Given the description of an element on the screen output the (x, y) to click on. 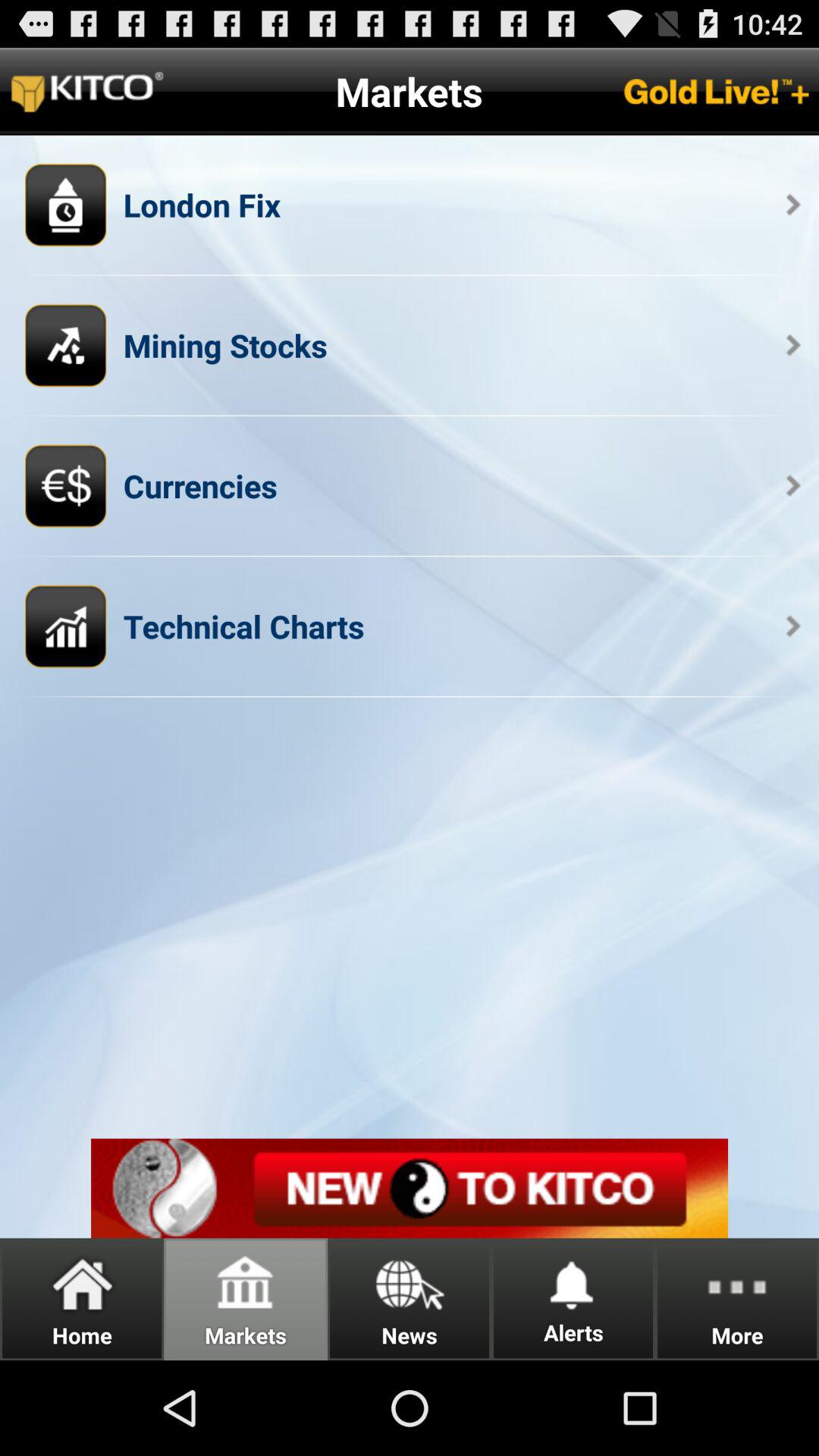
advertisement (409, 1188)
